Given the description of an element on the screen output the (x, y) to click on. 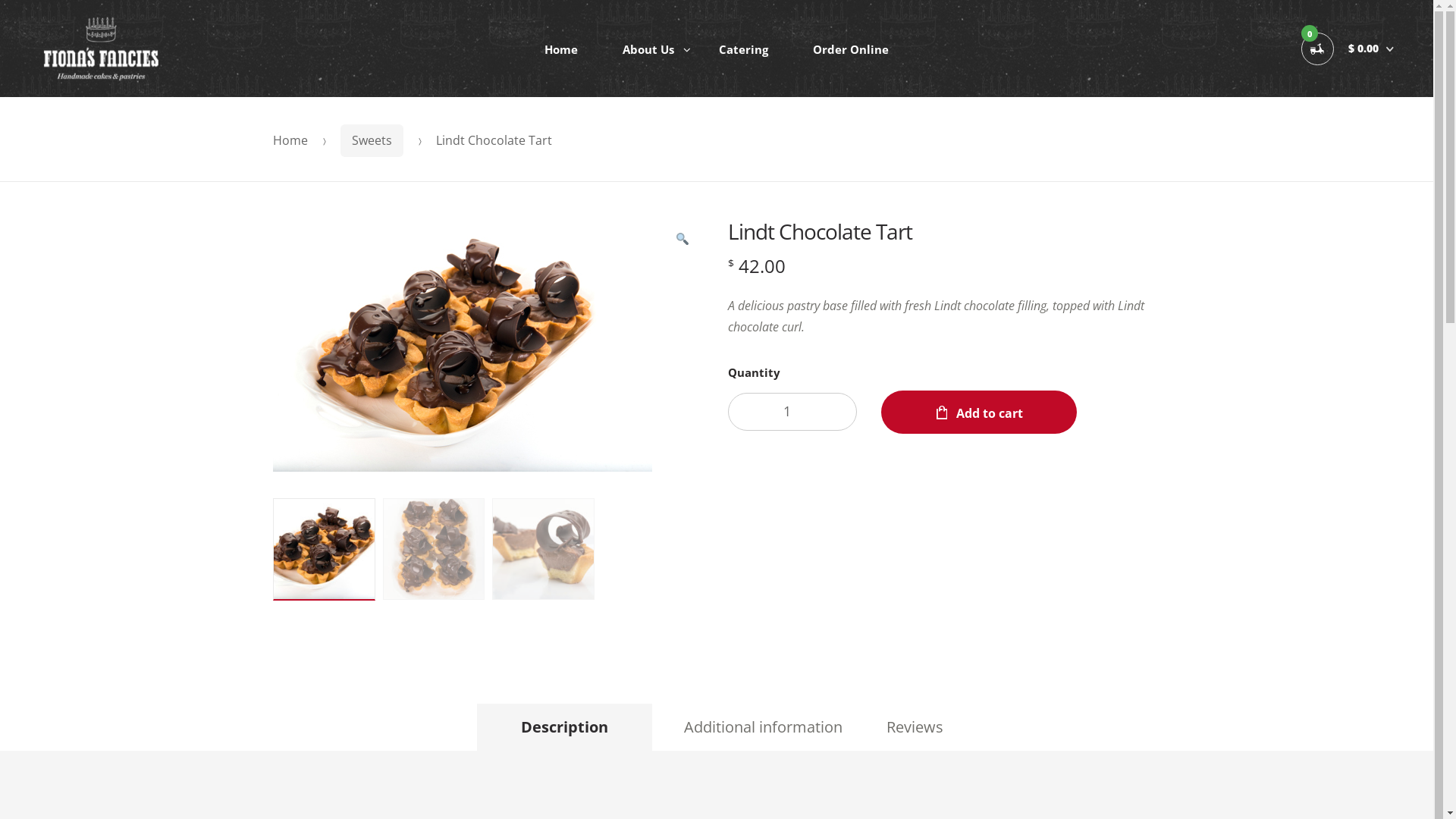
Skip to navigation Element type: text (90, 48)
About Us Element type: text (647, 48)
Home Element type: text (290, 139)
Add to cart Element type: text (978, 411)
$ 0.00
0 Element type: text (1347, 48)
Catering Element type: text (742, 48)
Description Element type: text (564, 726)
Additional information Element type: text (762, 726)
pjp-7 Element type: hover (462, 344)
Qty Element type: hover (792, 411)
Order Online Element type: text (851, 48)
Skip to content Element type: text (82, 48)
Home Element type: text (560, 48)
Reviews Element type: text (914, 726)
Sweets Element type: text (371, 140)
